Given the description of an element on the screen output the (x, y) to click on. 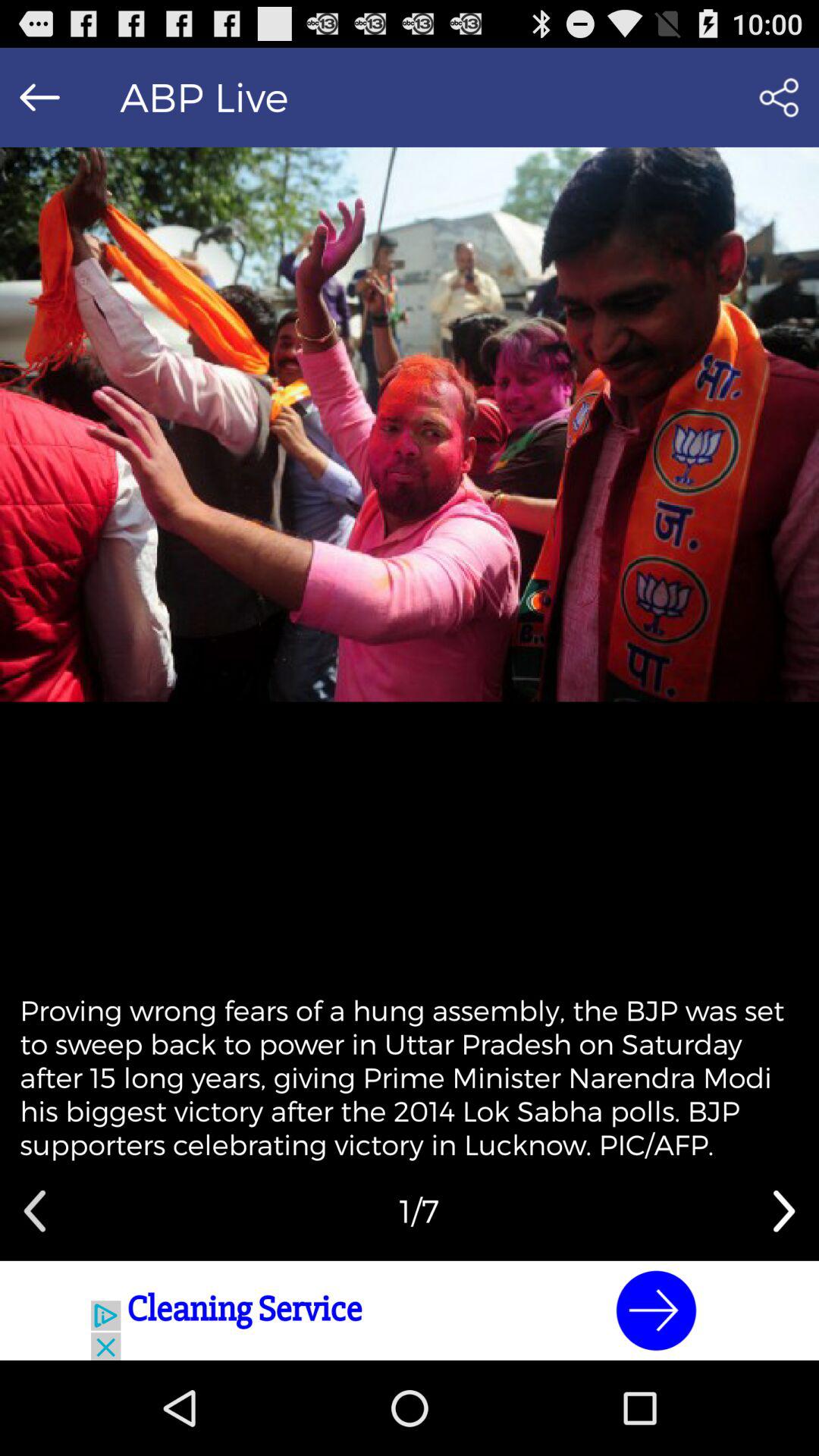
advertisement (409, 1310)
